Given the description of an element on the screen output the (x, y) to click on. 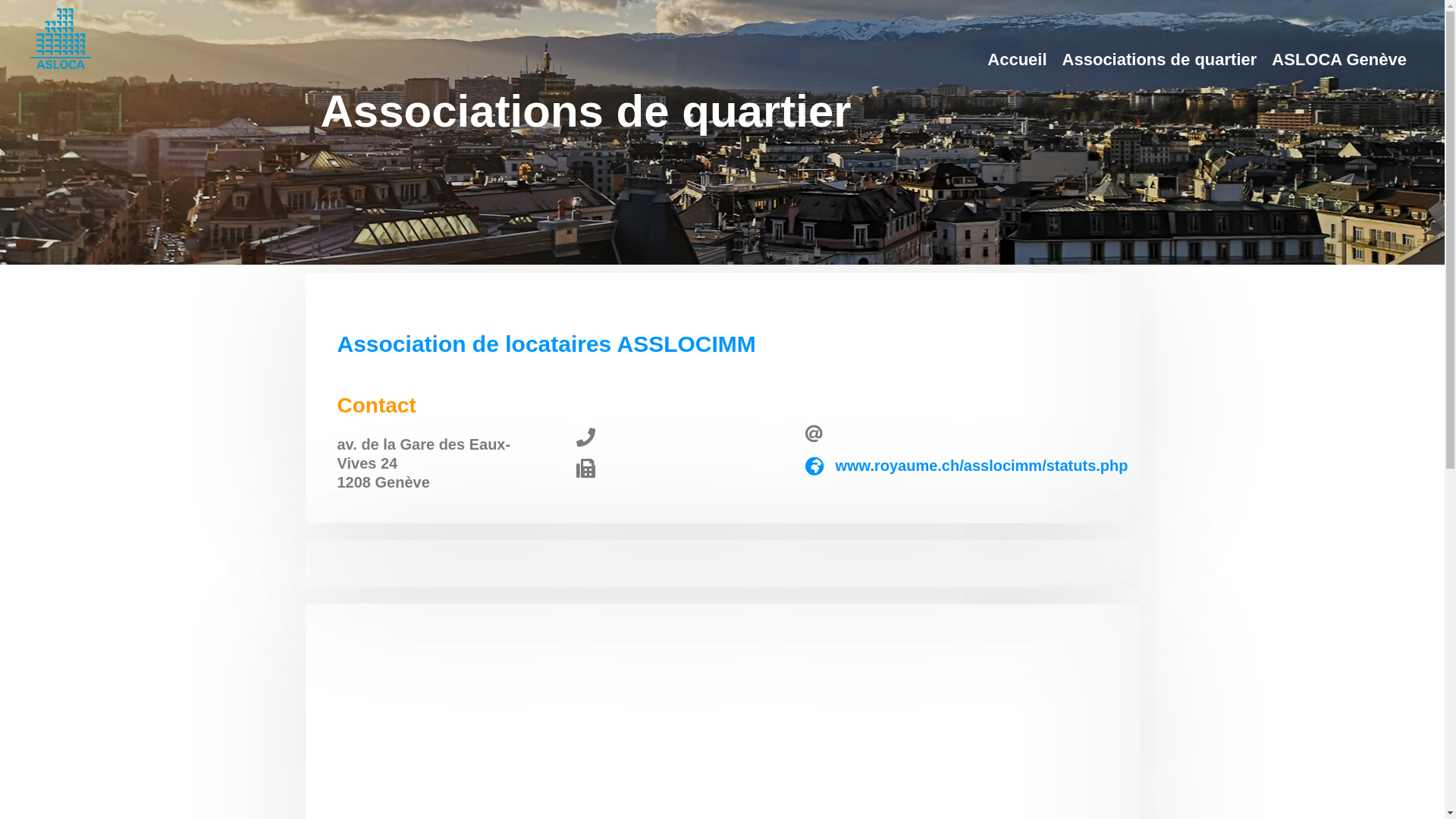
Associations de quartier Element type: text (1159, 59)
ASLOCA_LOGO_80_Blue Element type: hover (60, 38)
Accueil Element type: text (1016, 59)
www.royaume.ch/asslocimm/statuts.php Element type: text (980, 465)
